Given the description of an element on the screen output the (x, y) to click on. 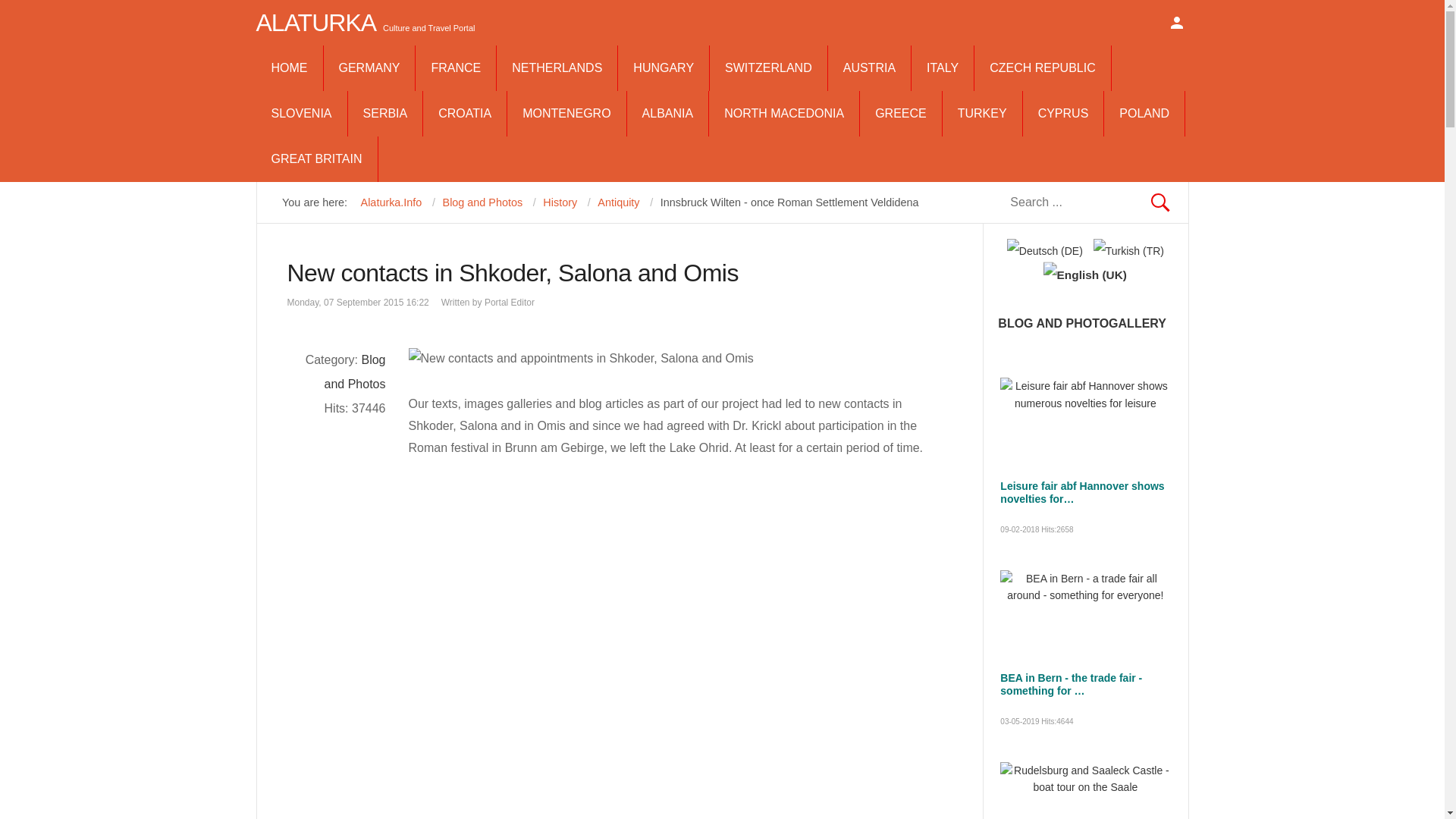
FRANCE (455, 67)
HOME (289, 67)
CZECH REPUBLIC (1042, 67)
ITALY (942, 67)
New contacts and appointments in Shkoder, Salona and Omis (579, 359)
Leisure fair abf Hannover shows novelties for leisure  (1081, 492)
Search ... (1085, 202)
AUSTRIA (869, 67)
ALATURKA Culture and Travel Portal (366, 22)
BEA in Bern - the trade fair - something for everyone! (1070, 683)
GERMANY (368, 67)
SWITZERLAND (768, 67)
NETHERLANDS (556, 67)
HUNGARY (663, 67)
